Given the description of an element on the screen output the (x, y) to click on. 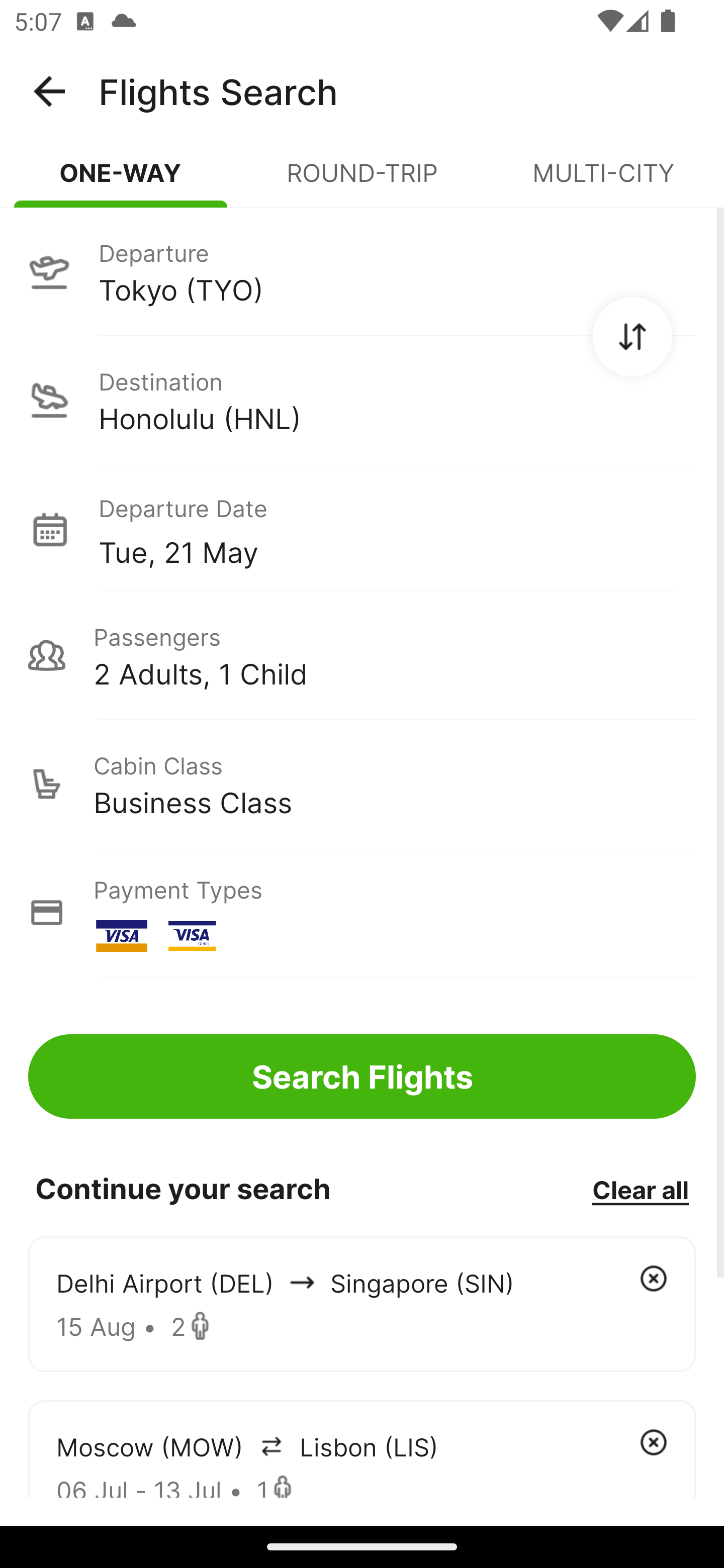
ONE-WAY (120, 180)
ROUND-TRIP (361, 180)
MULTI-CITY (603, 180)
Departure Tokyo (TYO) (362, 270)
Destination Honolulu (HNL) (362, 400)
Departure Date Tue, 21 May (396, 528)
Passengers 2 Adults, 1 Child (362, 655)
Cabin Class Business Class (362, 783)
Payment Types (362, 912)
Search Flights (361, 1075)
Clear all (640, 1189)
